Given the description of an element on the screen output the (x, y) to click on. 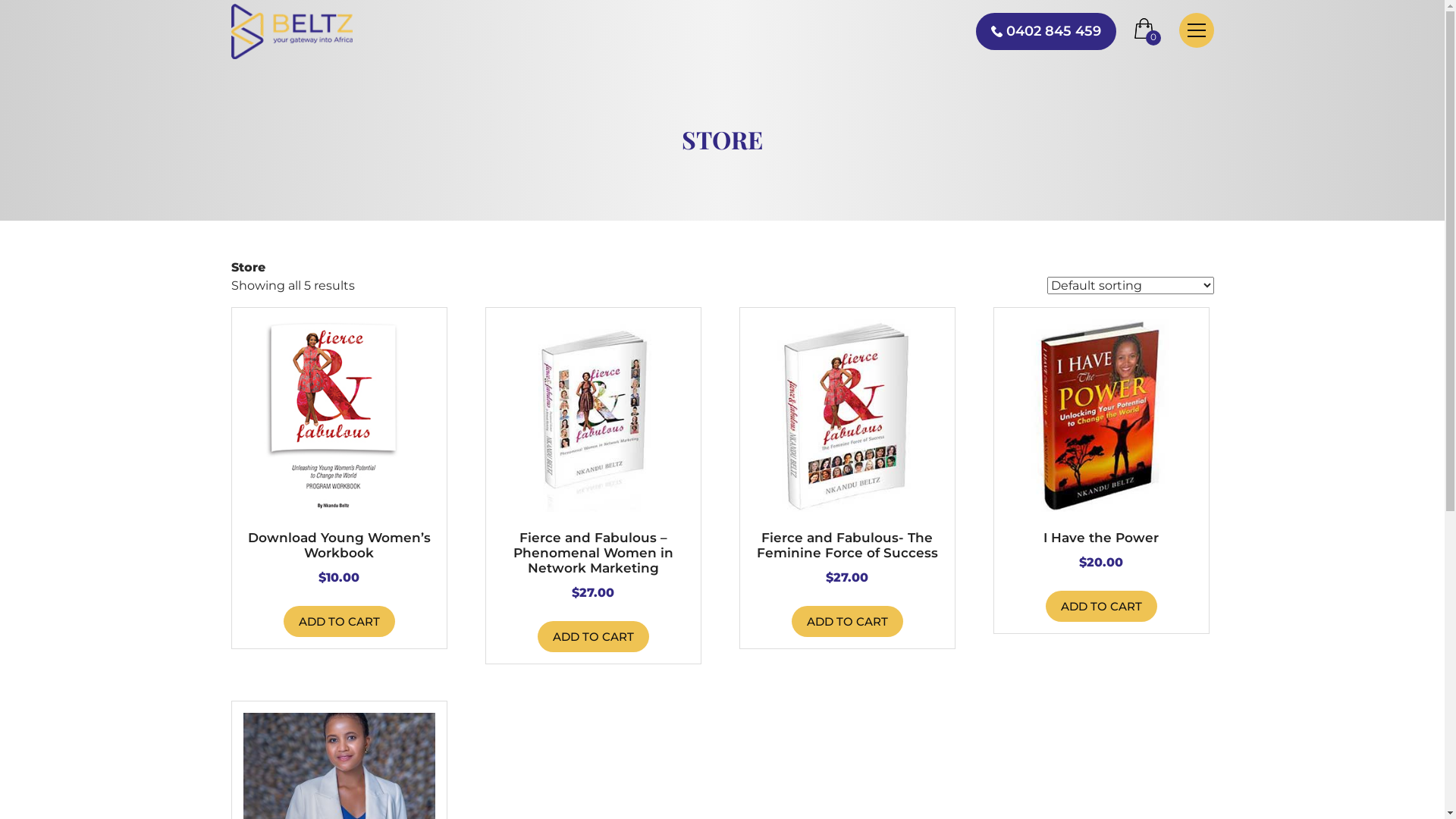
0402 845 459 Element type: text (1045, 31)
ADD TO CART Element type: text (1101, 605)
0 Element type: text (1147, 31)
ADD TO CART Element type: text (593, 636)
ADD TO CART Element type: text (847, 621)
Fierce and Fabulous- The Feminine Force of Success
$27.00 Element type: text (846, 476)
ADD TO CART Element type: text (339, 621)
I Have the Power
$20.00 Element type: text (1101, 469)
